Given the description of an element on the screen output the (x, y) to click on. 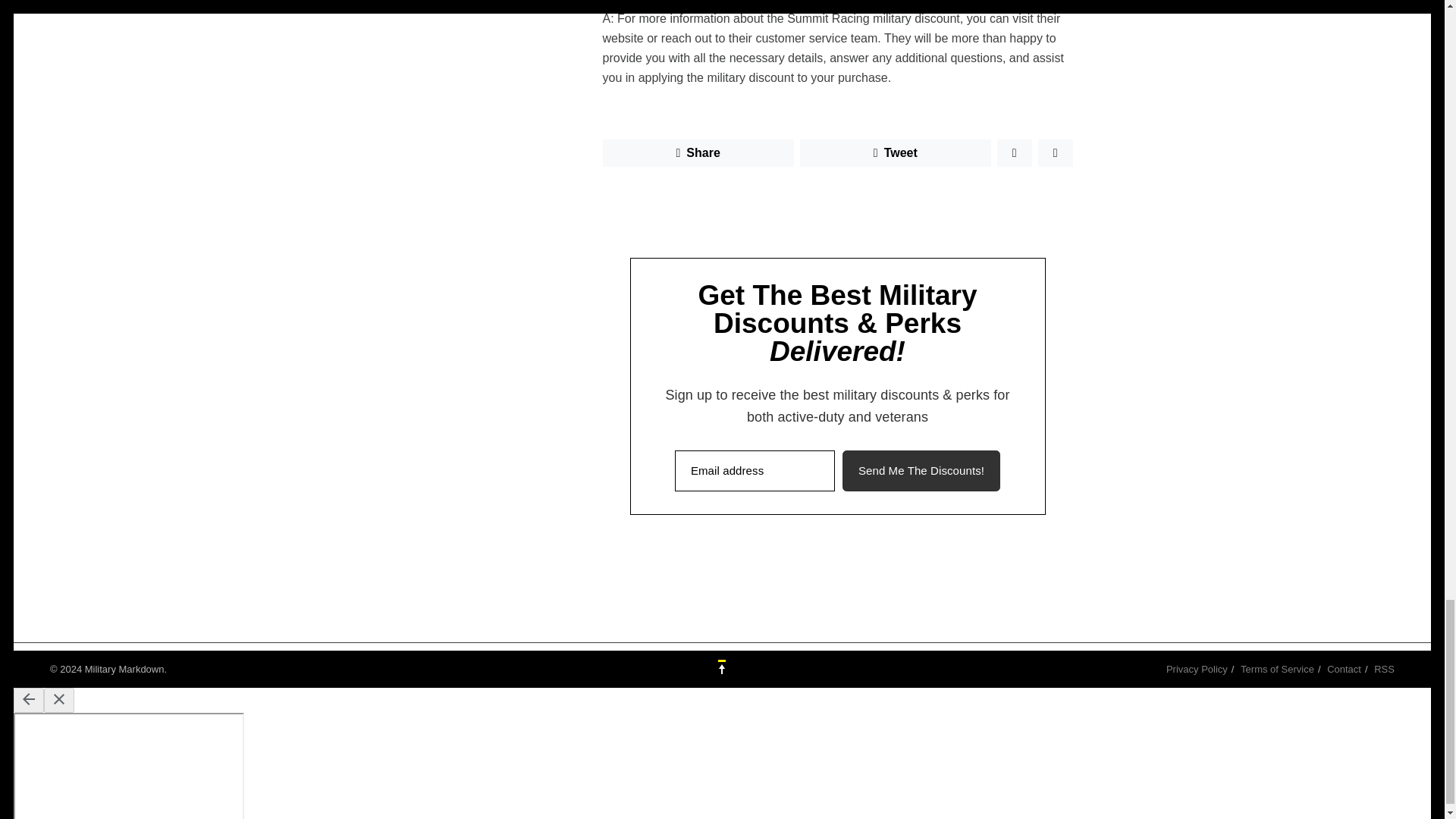
Send Me The Discounts! (921, 470)
Share (697, 153)
Tweet (895, 153)
